Given the description of an element on the screen output the (x, y) to click on. 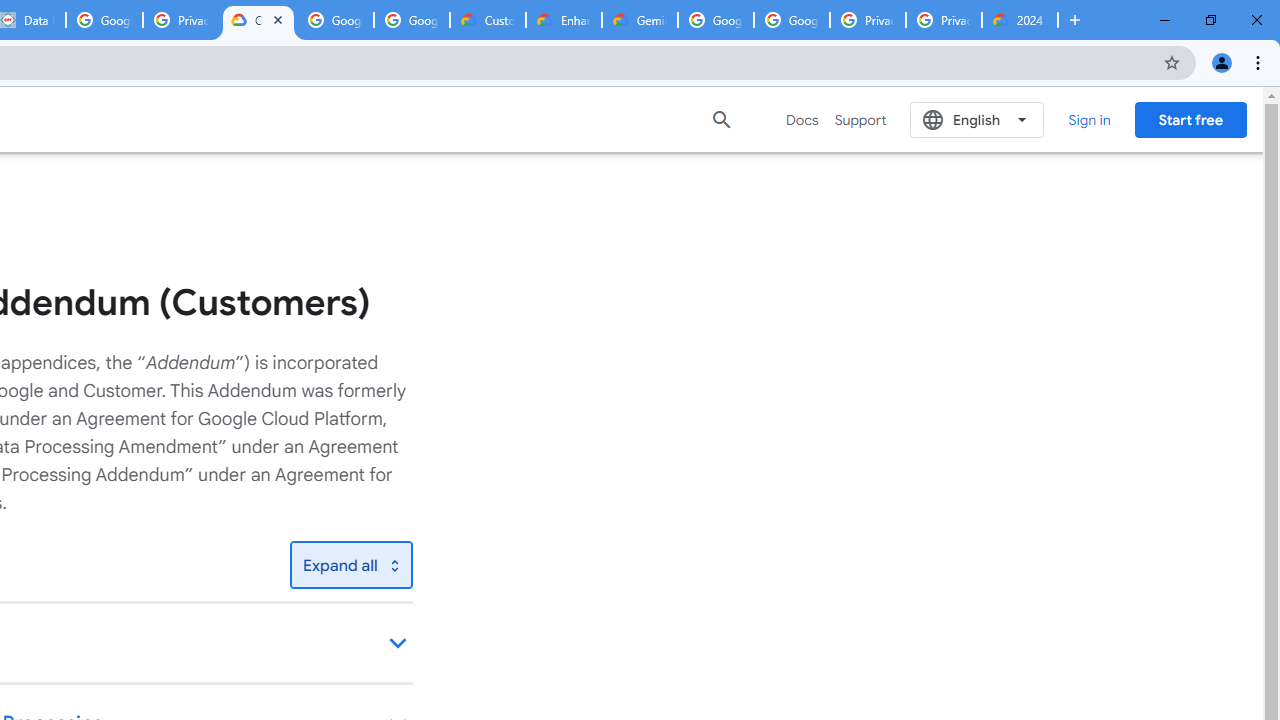
Google Workspace - Specific Terms (335, 20)
Google Cloud Platform (791, 20)
Gemini for Business and Developers | Google Cloud (639, 20)
Cloud Data Processing Addendum | Google Cloud (258, 20)
Toggle all (351, 564)
Docs (802, 119)
